Given the description of an element on the screen output the (x, y) to click on. 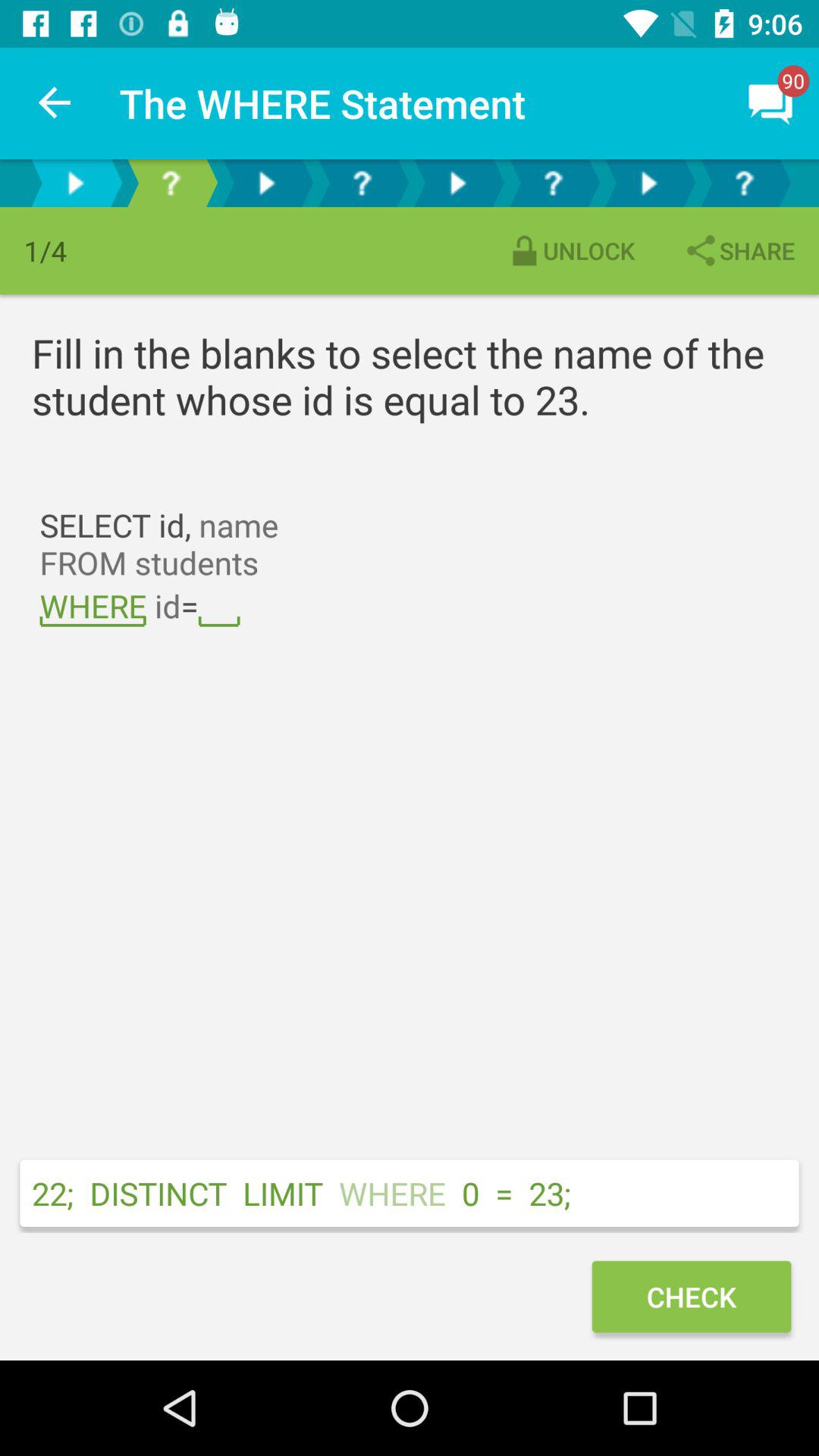
choose the unlock item (570, 250)
